Given the description of an element on the screen output the (x, y) to click on. 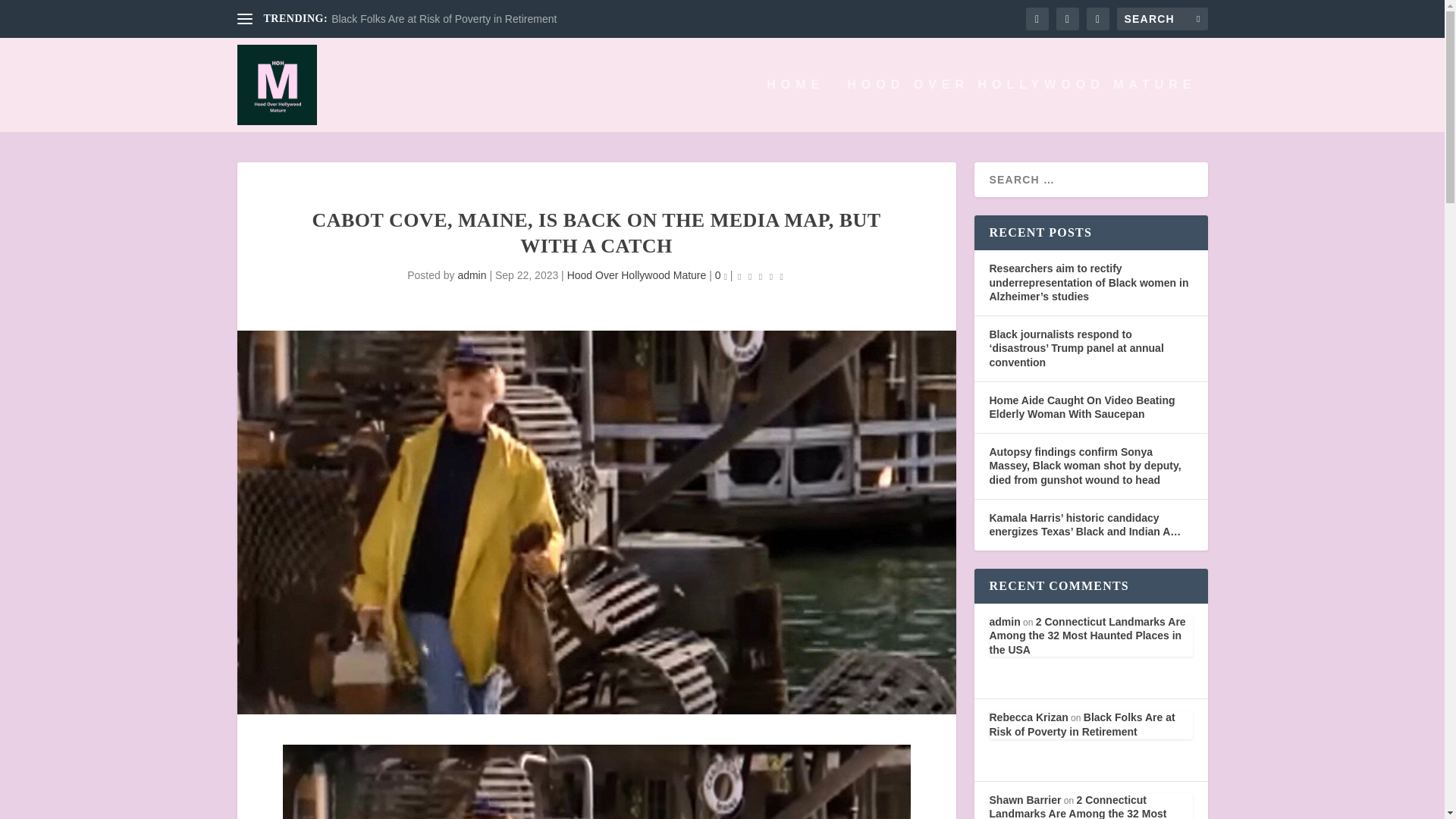
Hood Over Hollywood Mature (636, 275)
0 (720, 275)
HOME (795, 104)
Rating: 0.00 (760, 275)
Search for: (1161, 18)
HOOD OVER HOLLYWOOD MATURE (1021, 104)
Posts by admin (471, 275)
Black Folks Are at Risk of Poverty in Retirement (443, 19)
admin (471, 275)
